Given the description of an element on the screen output the (x, y) to click on. 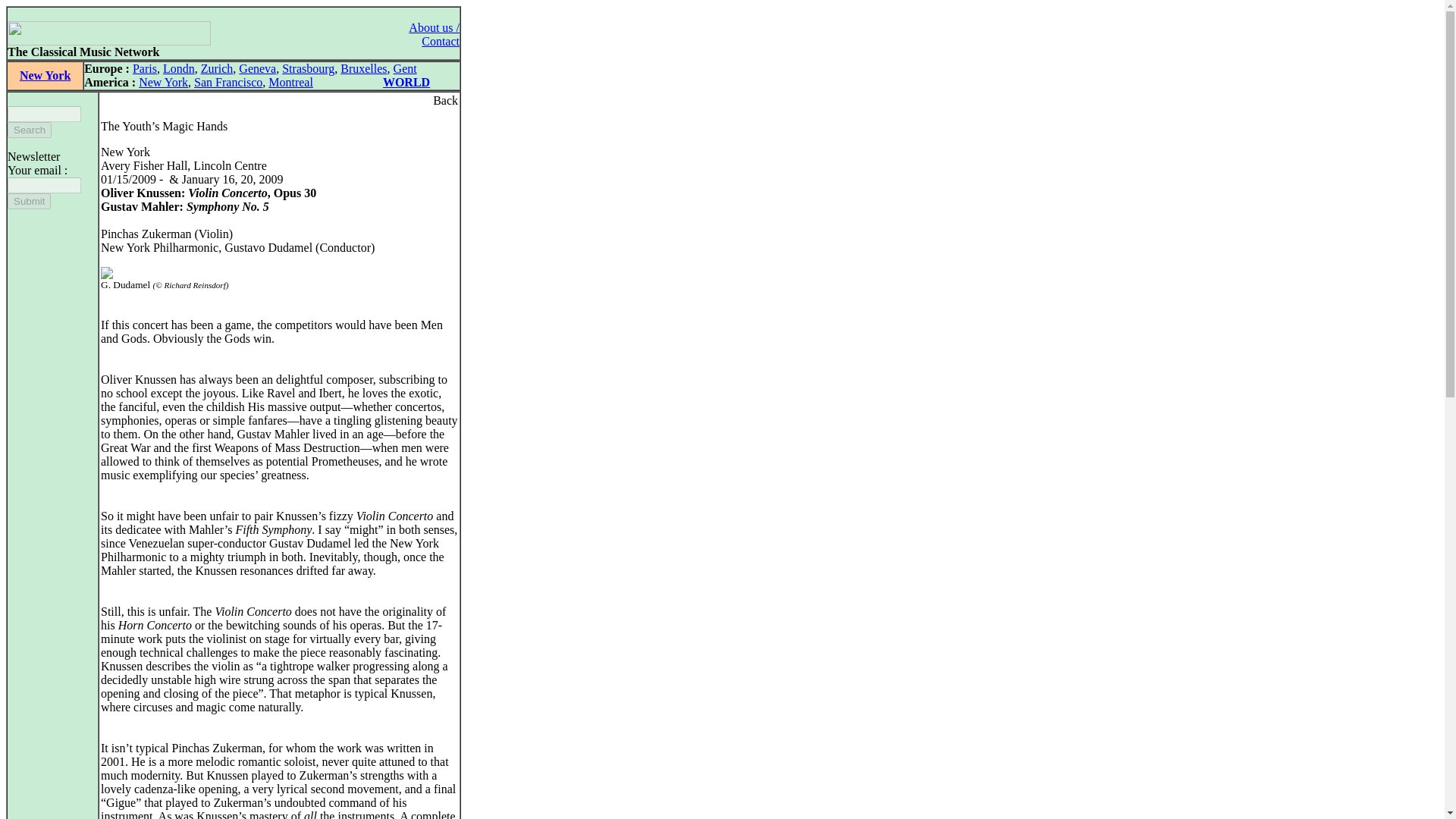
Search (28, 130)
Submit (28, 201)
Bruxelles (363, 68)
Search (28, 130)
Paris (144, 68)
WORLD (405, 82)
New York (44, 74)
Londn (179, 68)
New York (162, 82)
Strasbourg (308, 68)
